Given the description of an element on the screen output the (x, y) to click on. 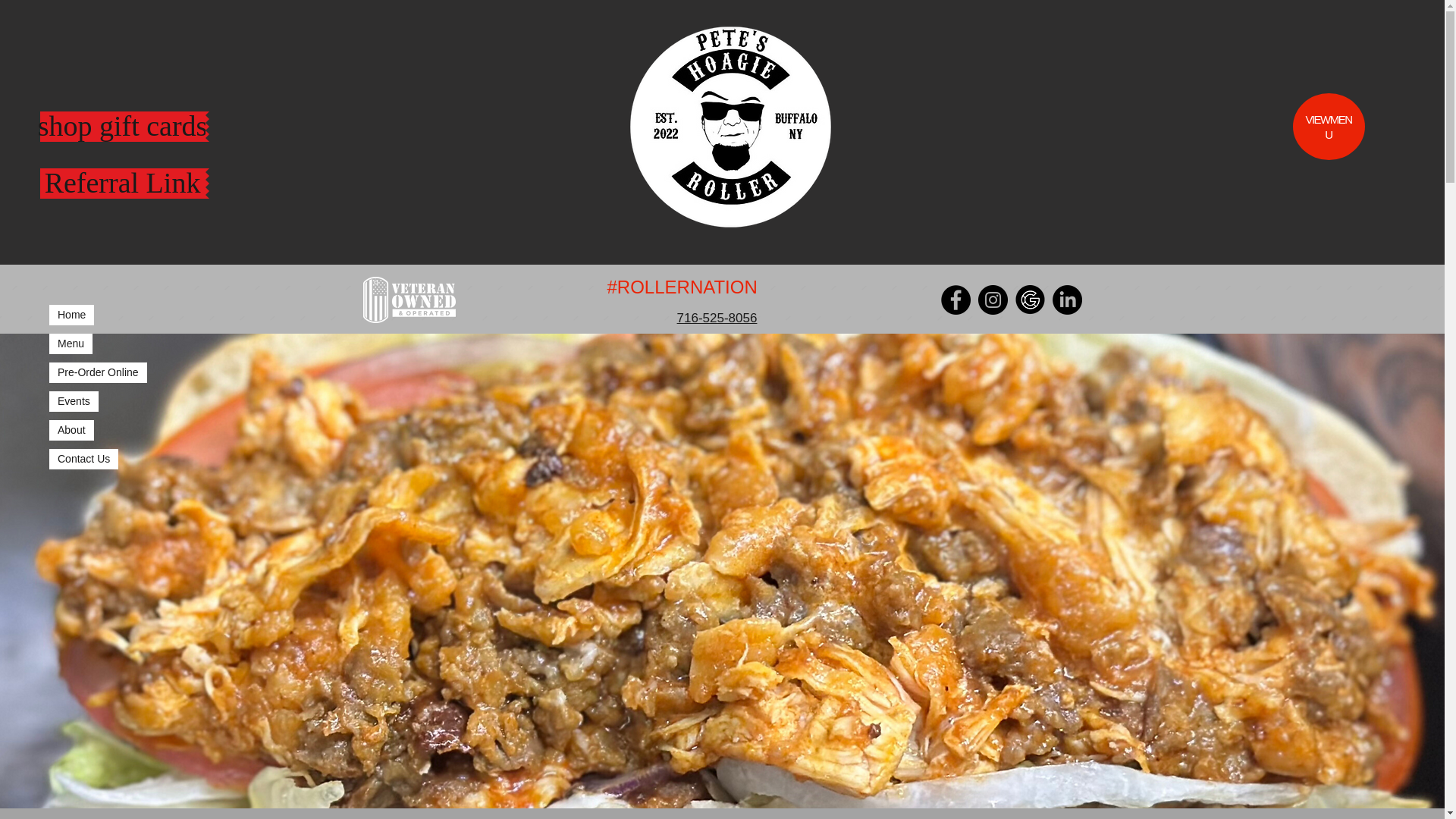
VIEWMENU (1327, 126)
716-525-8056 (717, 318)
Referral Link (122, 183)
Pre-Order Online (98, 372)
Events (74, 401)
About (71, 430)
Home (71, 314)
Menu (71, 343)
Contact Us (83, 458)
shop gift cards (122, 126)
